Given the description of an element on the screen output the (x, y) to click on. 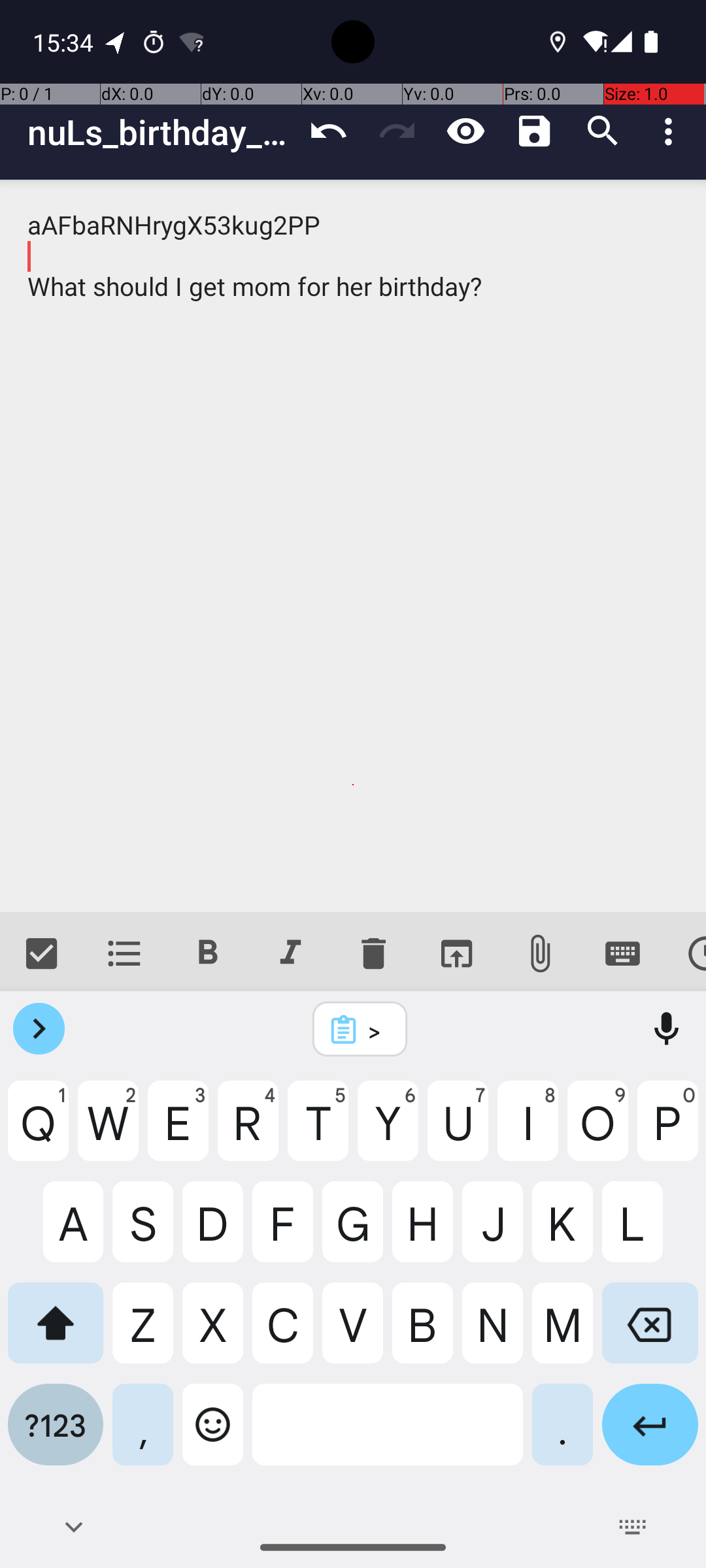
nuLs_birthday_gift_ideas_mom Element type: android.widget.TextView (160, 131)
aAFbaRNHrygX53kug2PP

What should I get mom for her birthday? Element type: android.widget.EditText (353, 545)
>  Element type: android.widget.TextView (377, 1029)
